Given the description of an element on the screen output the (x, y) to click on. 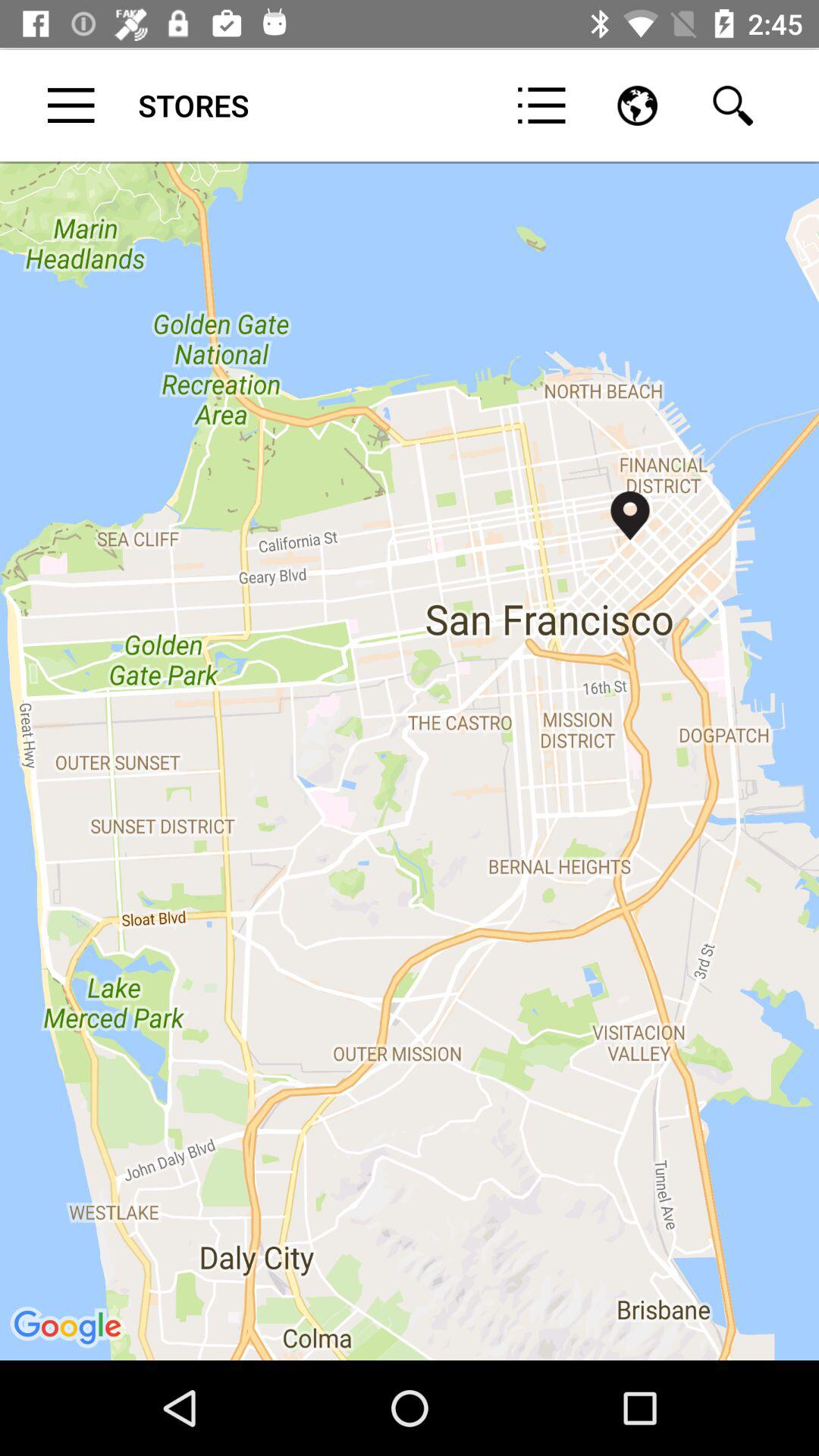
open item to the left of stores item (70, 105)
